Given the description of an element on the screen output the (x, y) to click on. 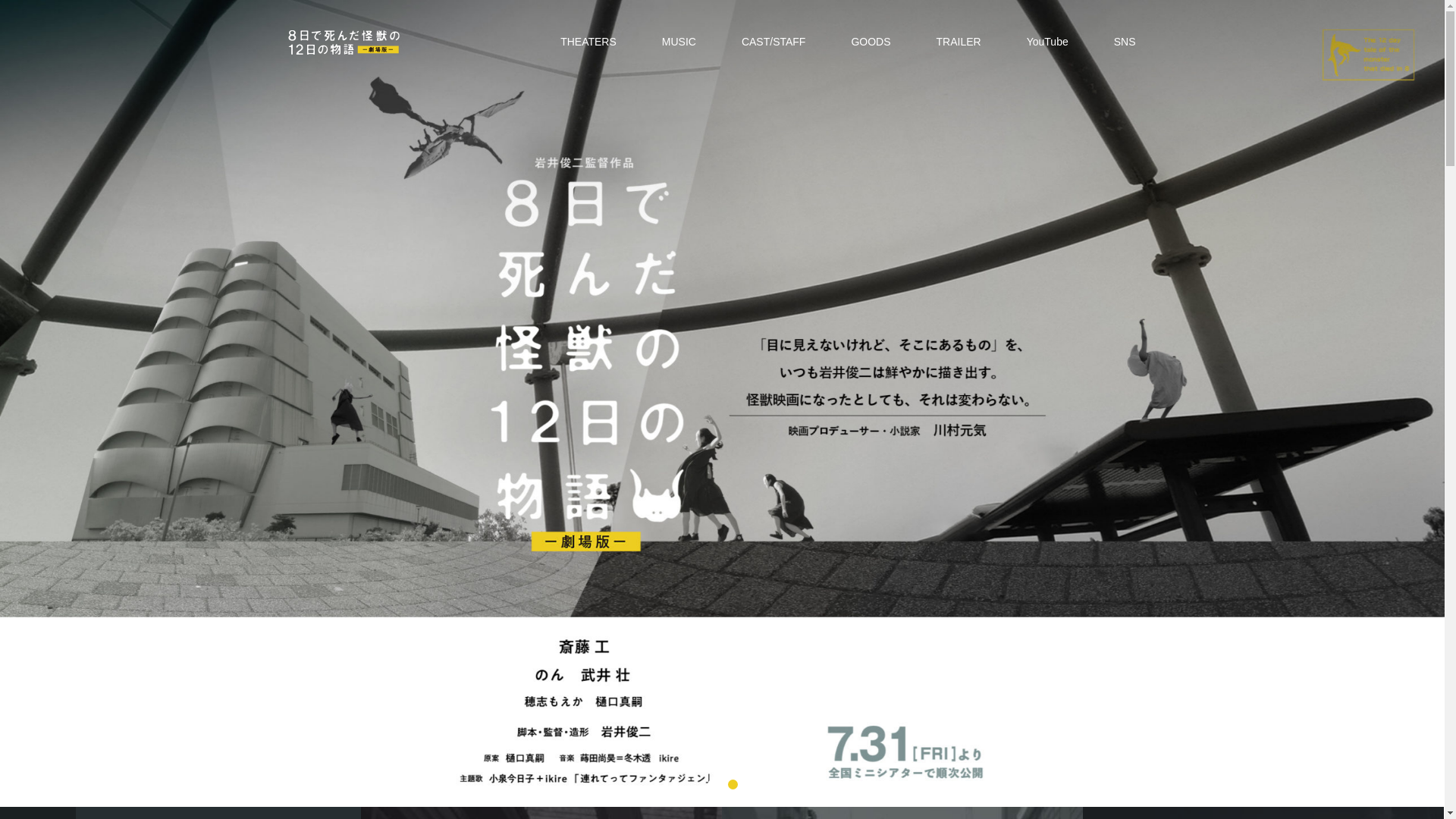
2 Element type: text (732, 784)
1 Element type: text (711, 784)
CAST/STAFF Element type: text (773, 41)
MUSIC Element type: text (678, 41)
TRAILER Element type: text (958, 41)
SNS Element type: text (1124, 41)
YouTube Element type: text (1047, 41)
THEATERS Element type: text (588, 41)
GOODS Element type: text (870, 41)
